Given the description of an element on the screen output the (x, y) to click on. 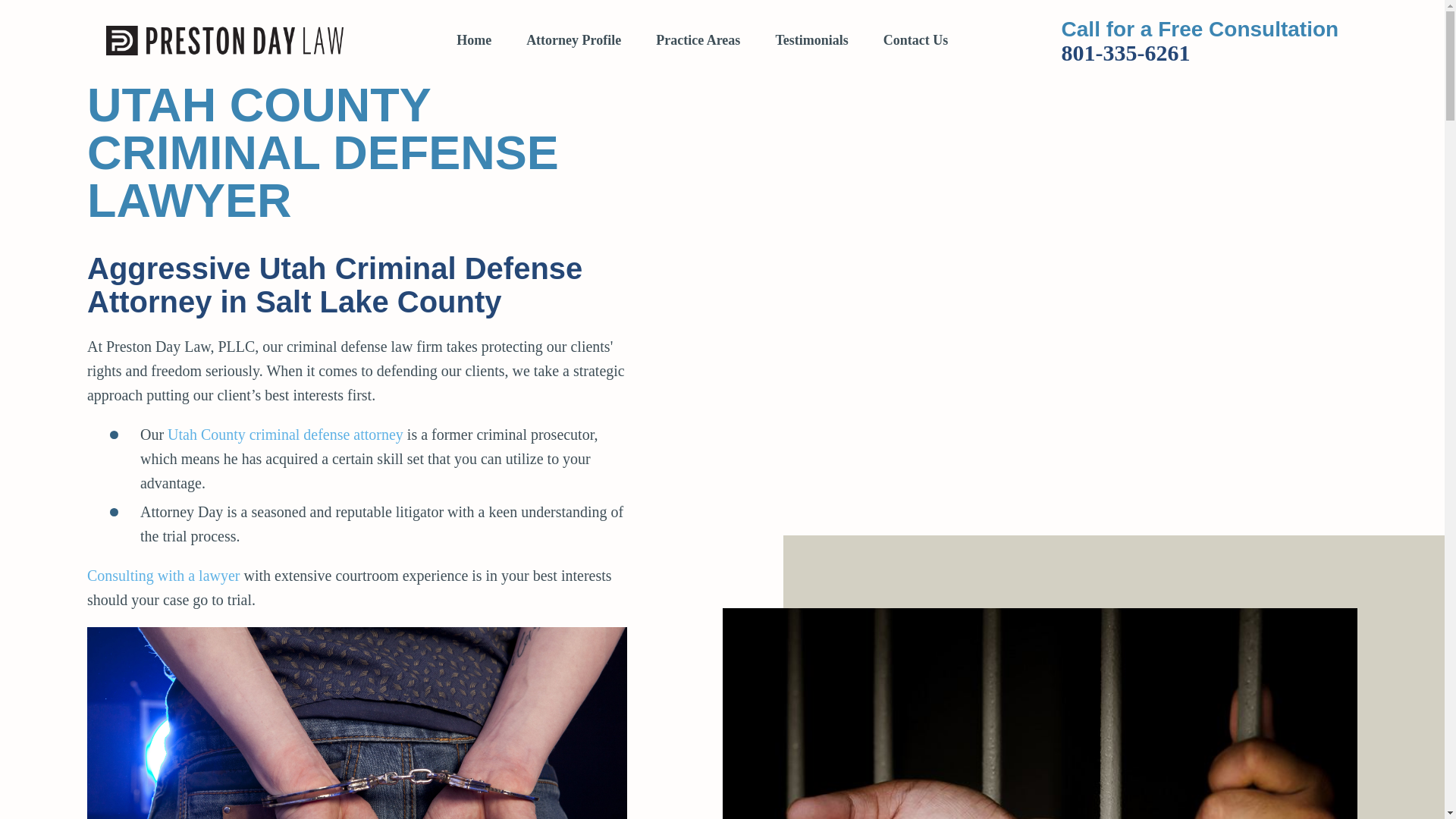
Contact Us (907, 40)
801-335-6261 (1200, 52)
Attorney Profile (573, 40)
Testimonials (810, 40)
Practice Areas (698, 40)
Consulting with a lawyer (163, 575)
Utah County criminal defense attorney (285, 434)
Preston Day Law (224, 40)
